Given the description of an element on the screen output the (x, y) to click on. 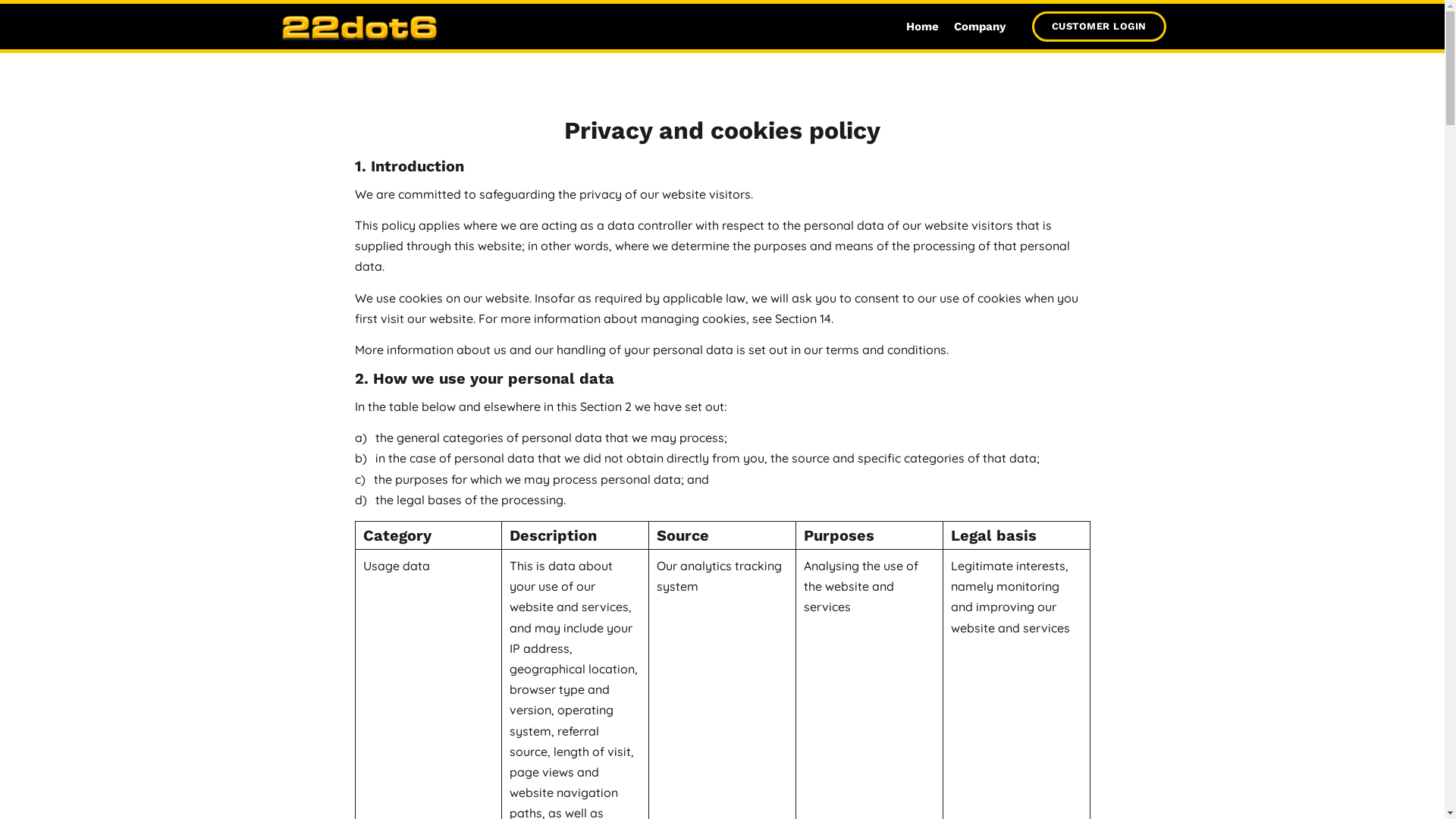
Company Element type: text (978, 26)
CUSTOMER LOGIN Element type: text (1098, 26)
Home Element type: text (922, 26)
